Given the description of an element on the screen output the (x, y) to click on. 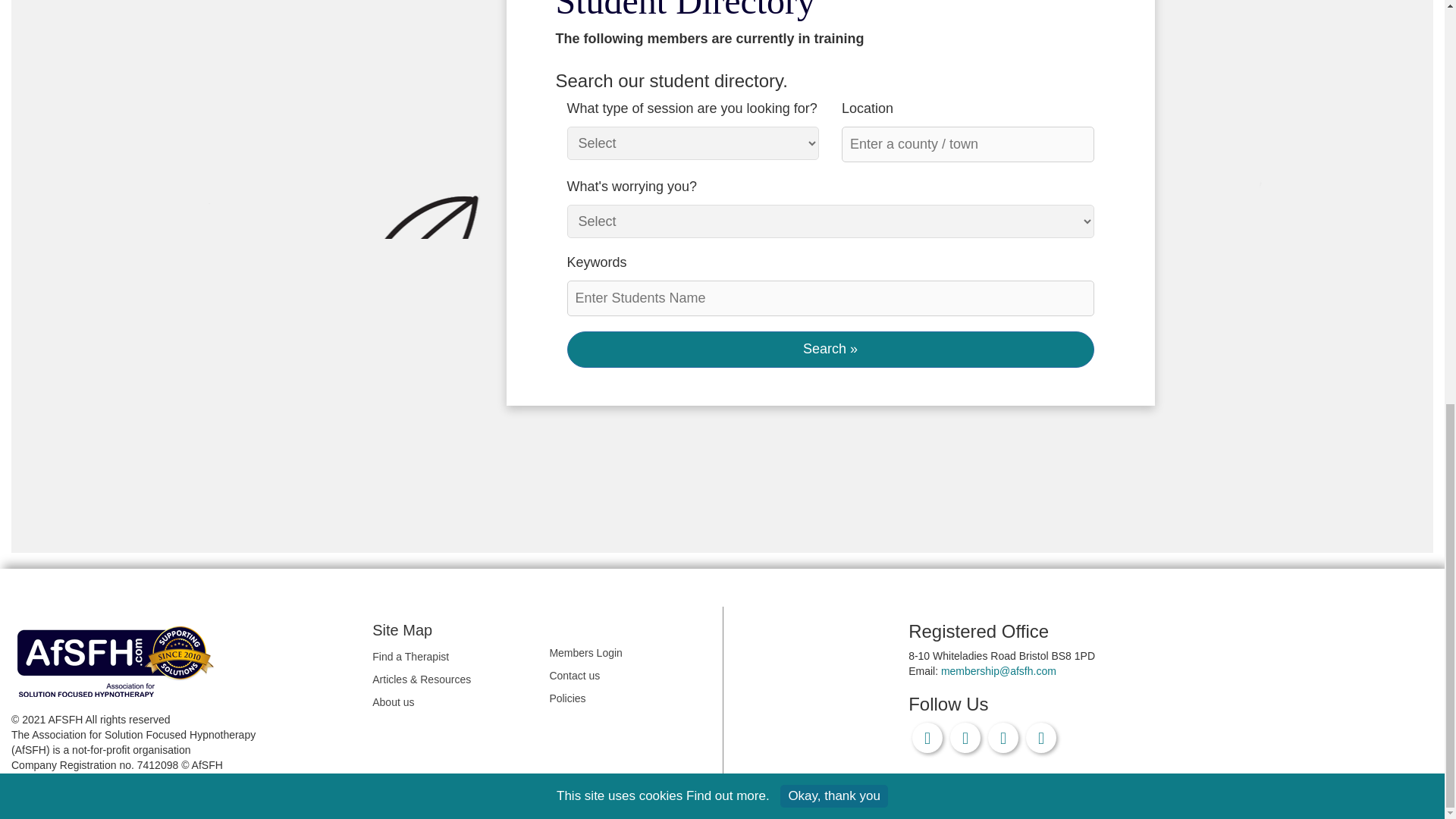
Policies (629, 698)
Members Login (629, 653)
About us (453, 702)
AfSFH (119, 659)
Find a Therapist (453, 657)
Contact us (629, 676)
